Given the description of an element on the screen output the (x, y) to click on. 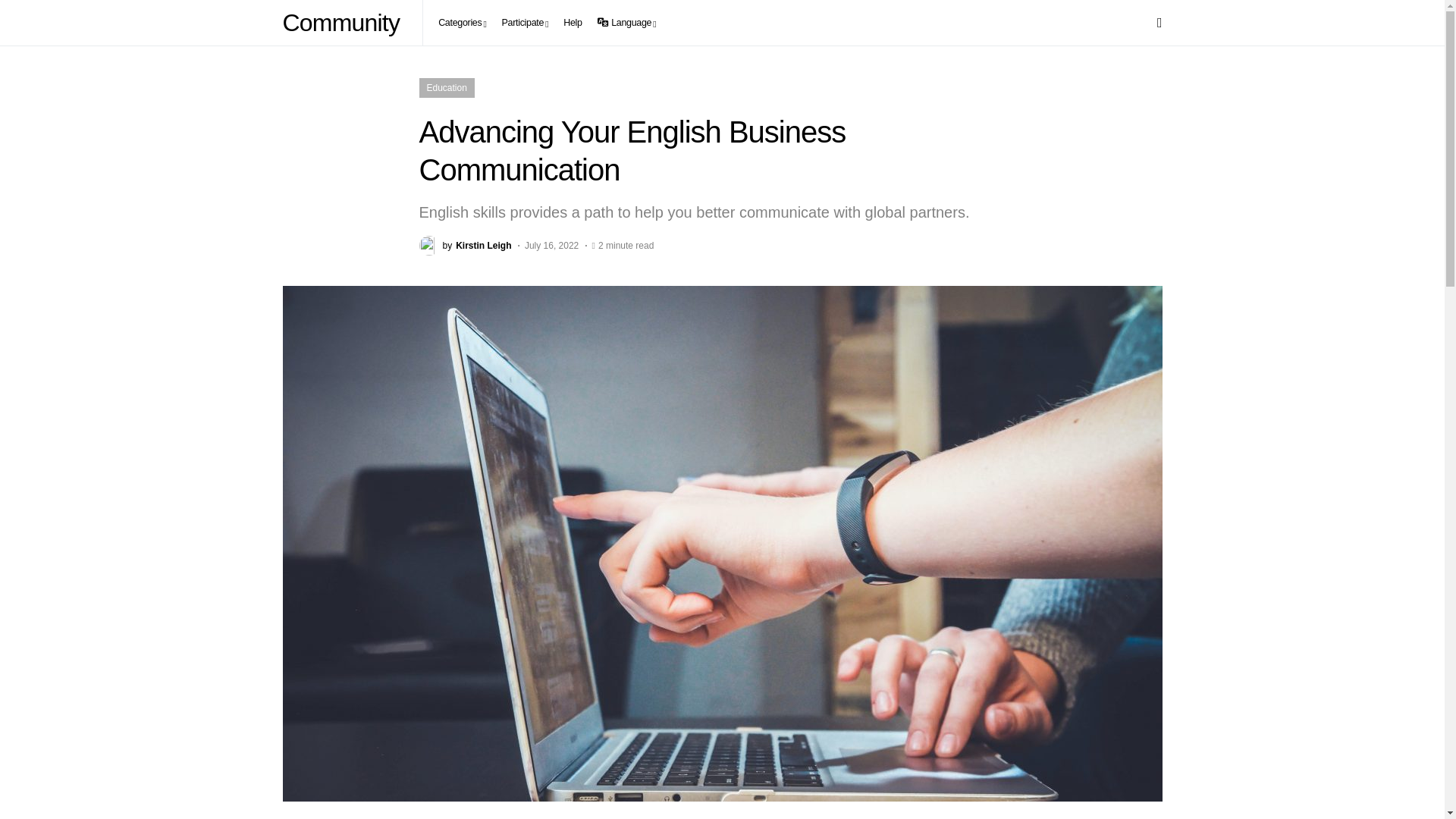
Categories (462, 22)
Participate (525, 22)
Community (344, 22)
View all posts by Kirstin Leigh (465, 245)
Language (626, 22)
